Given the description of an element on the screen output the (x, y) to click on. 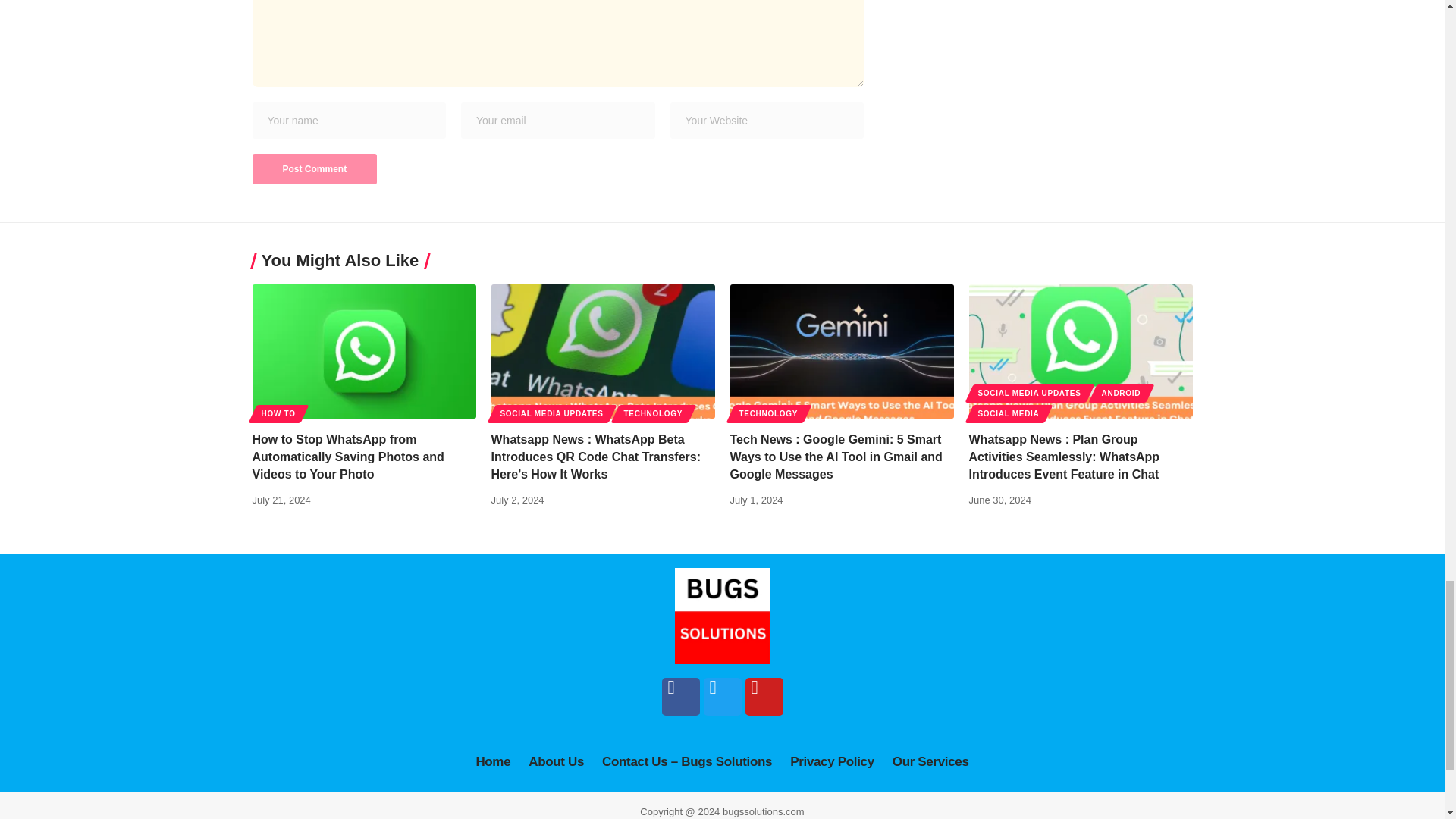
Post Comment (314, 168)
